Given the description of an element on the screen output the (x, y) to click on. 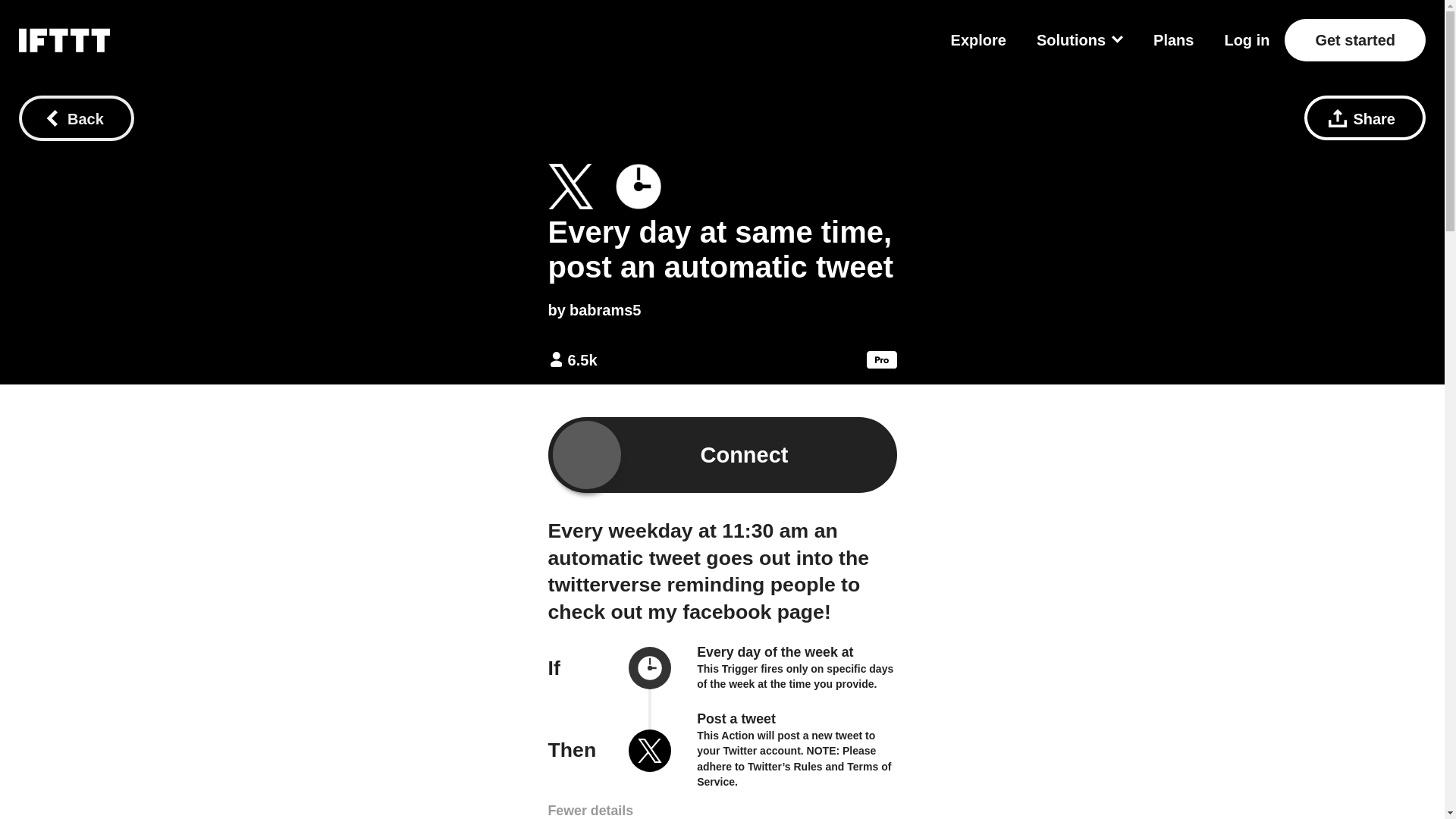
Plans (1173, 39)
Plans (1173, 39)
babrams5 (605, 310)
Get started (1354, 39)
Every day of the week at (775, 652)
Fewer details (590, 809)
Post a tweet (736, 718)
Explore (978, 39)
Solutions (1079, 39)
Twitter Post a tweet. (569, 186)
Twitter (649, 752)
Log in (1246, 39)
Share (1364, 117)
Get started (1354, 39)
Home (64, 40)
